Given the description of an element on the screen output the (x, y) to click on. 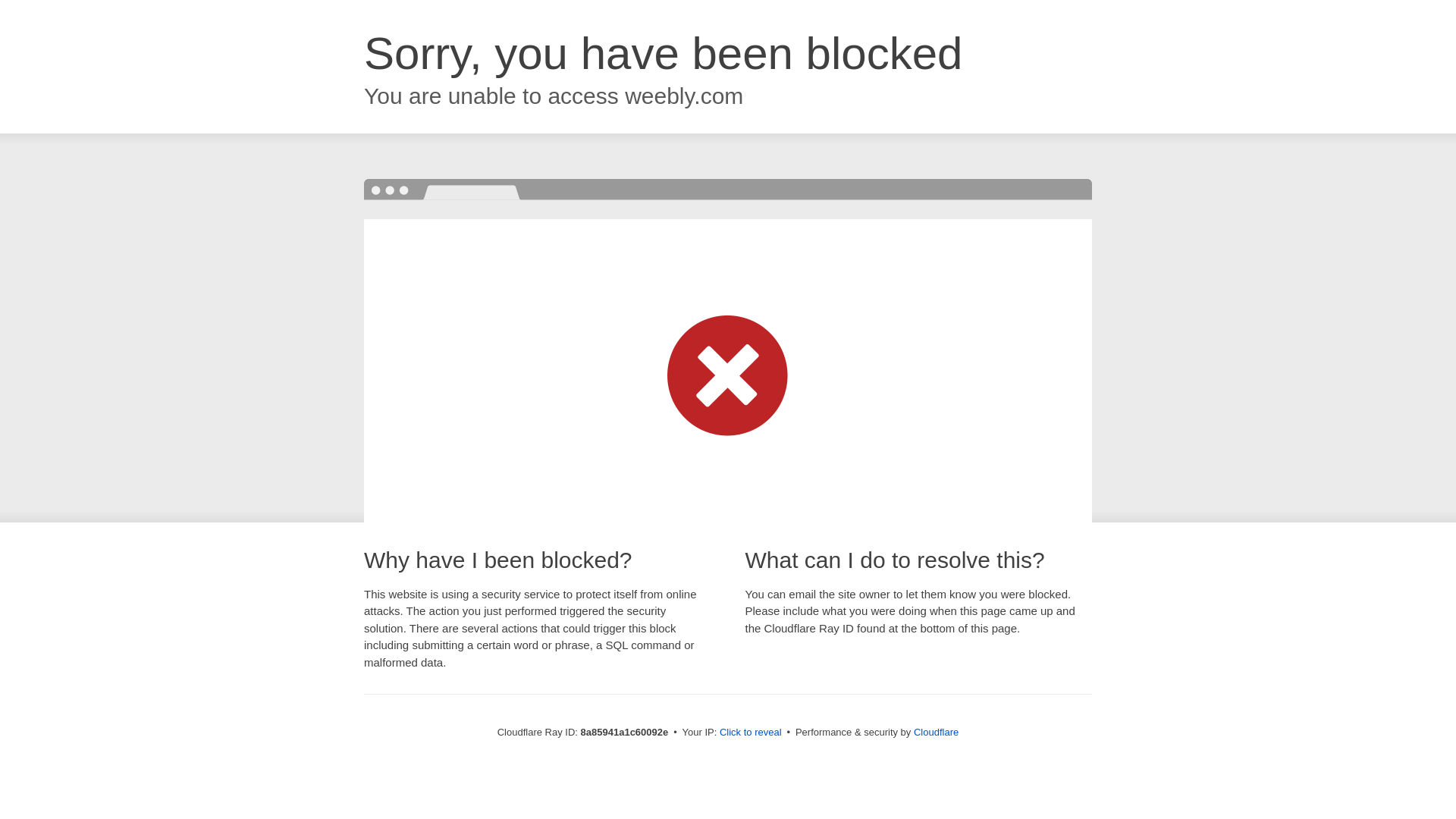
Cloudflare (936, 731)
Click to reveal (750, 732)
